Given the description of an element on the screen output the (x, y) to click on. 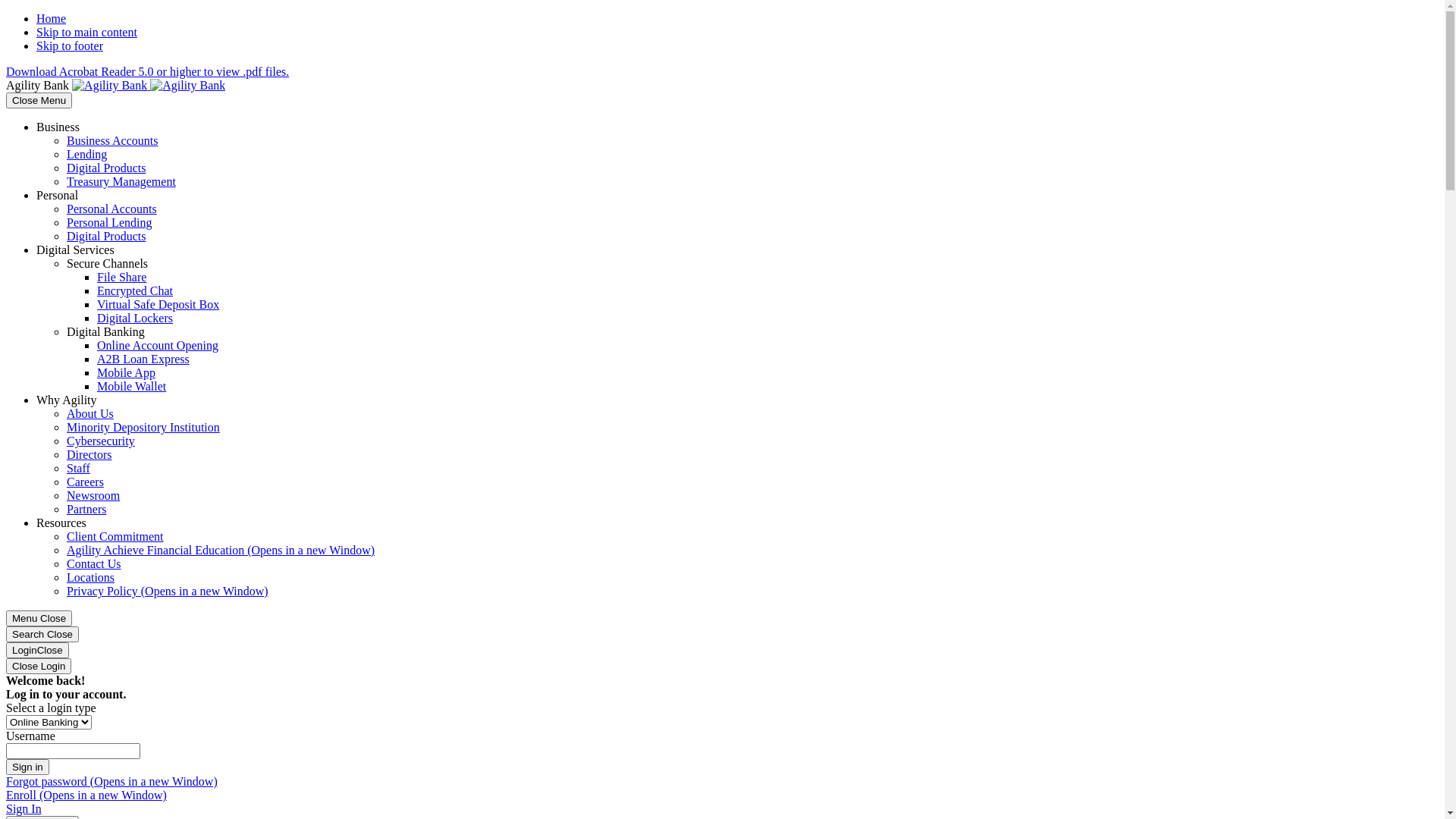
Skip to main content Element type: text (86, 31)
Close Login Element type: text (38, 666)
LoginClose Element type: text (37, 650)
Mobile App Element type: text (126, 372)
Agility Achieve Financial Education (Opens in a new Window) Element type: text (220, 549)
Online Account Opening Element type: text (157, 344)
Business Accounts Element type: text (111, 140)
Contact Us Element type: text (93, 563)
Home Element type: text (50, 18)
Download Acrobat Reader 5.0 or higher to view .pdf files. Element type: text (147, 71)
Personal Lending Element type: text (108, 222)
Encrypted Chat Element type: text (134, 290)
Sign in Element type: text (27, 767)
Virtual Safe Deposit Box Element type: text (158, 304)
Enroll (Opens in a new Window) Element type: text (86, 794)
Newsroom Element type: text (92, 495)
Partners Element type: text (86, 508)
A2B Loan Express Element type: text (143, 358)
Minority Depository Institution Element type: text (142, 426)
Locations Element type: text (90, 577)
Privacy Policy (Opens in a new Window) Element type: text (167, 590)
Client Commitment Element type: text (114, 536)
Forgot password (Opens in a new Window) Element type: text (111, 781)
Lending Element type: text (86, 153)
Close Menu Element type: text (39, 100)
Directors Element type: text (89, 454)
Careers Element type: text (84, 481)
Sign In Element type: text (23, 808)
Staff Element type: text (78, 467)
Digital Products Element type: text (105, 167)
Agility Bank, Houston, TX Element type: hover (148, 84)
Cybersecurity Element type: text (100, 440)
Personal Accounts Element type: text (111, 208)
Digital Products Element type: text (105, 235)
Menu Close Element type: text (39, 618)
About Us Element type: text (89, 413)
Mobile Wallet Element type: text (131, 385)
File Share Element type: text (121, 276)
Digital Lockers Element type: text (134, 317)
Treasury Management Element type: text (120, 181)
Search Close Element type: text (42, 634)
Skip to footer Element type: text (69, 45)
